Given the description of an element on the screen output the (x, y) to click on. 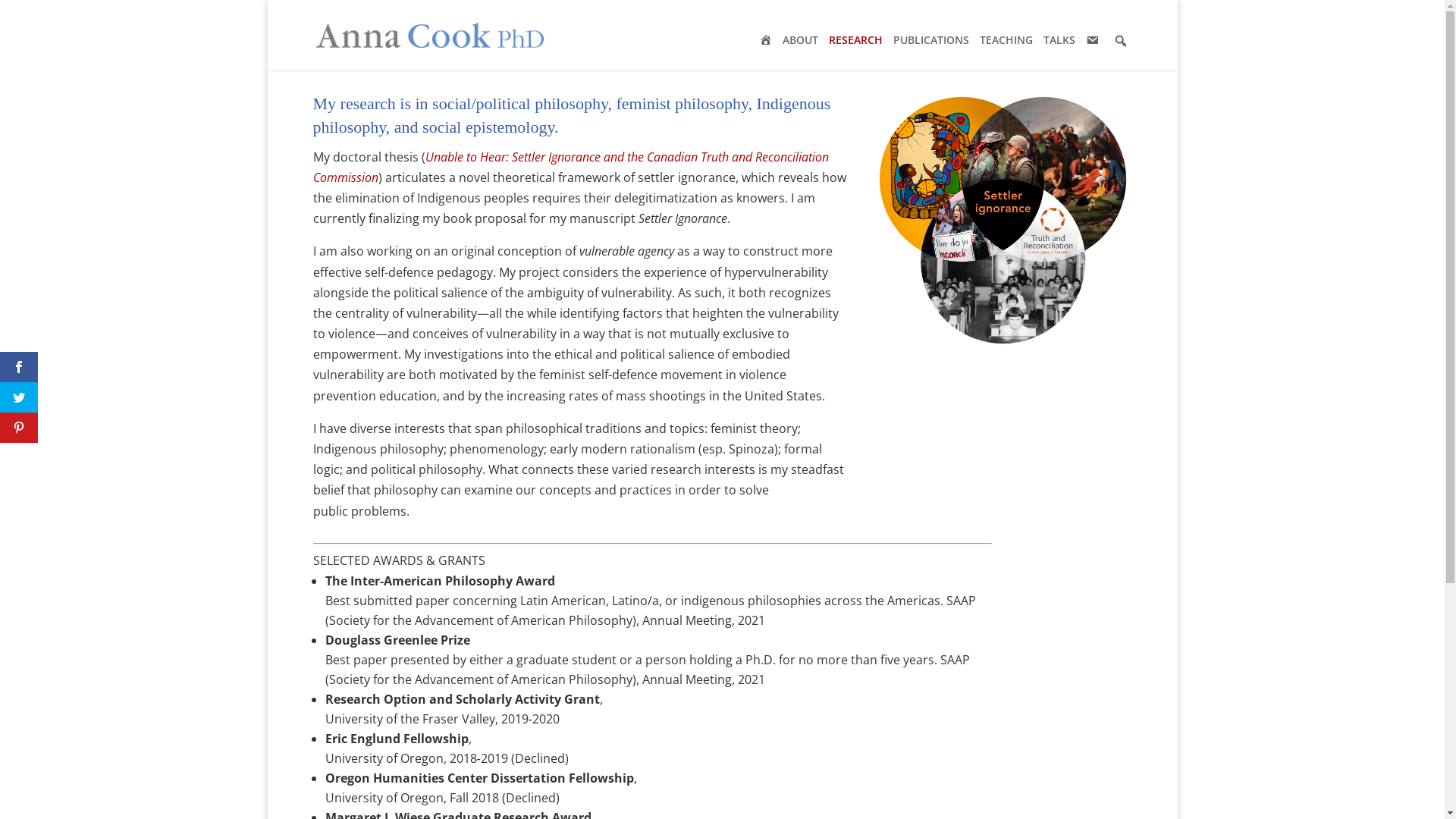
PUBLICATIONS Element type: text (936, 40)
RESEARCH Element type: text (860, 40)
TALKS Element type: text (1064, 40)
Search Element type: text (11, 9)
TEACHING Element type: text (1011, 40)
ABOUT Element type: text (805, 40)
